Given the description of an element on the screen output the (x, y) to click on. 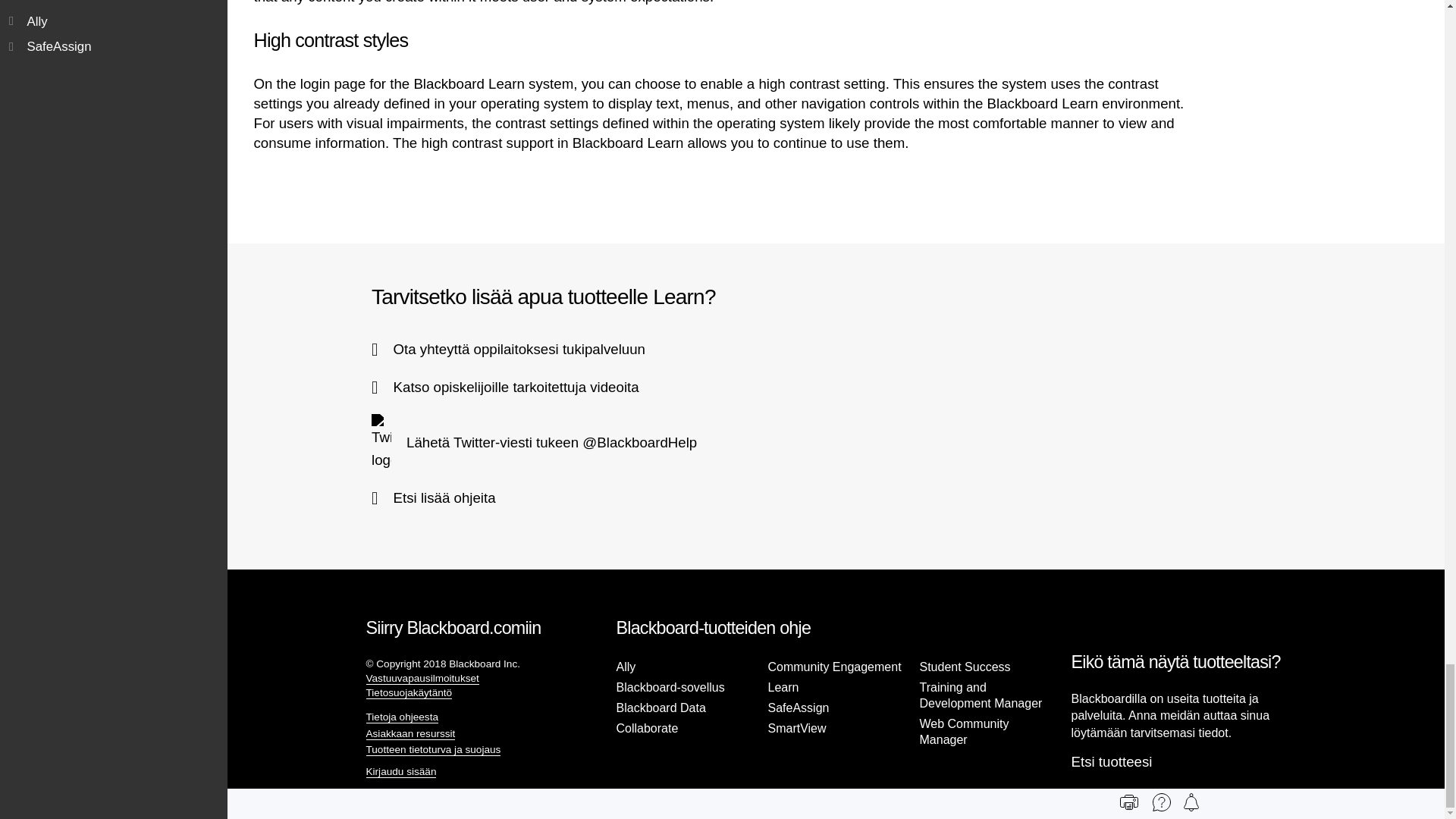
Siirry Blackboard.comiin (452, 628)
Katso opiskelijoille tarkoitettuja videoita (505, 386)
Vastuuvapausilmoitukset (422, 678)
